Given the description of an element on the screen output the (x, y) to click on. 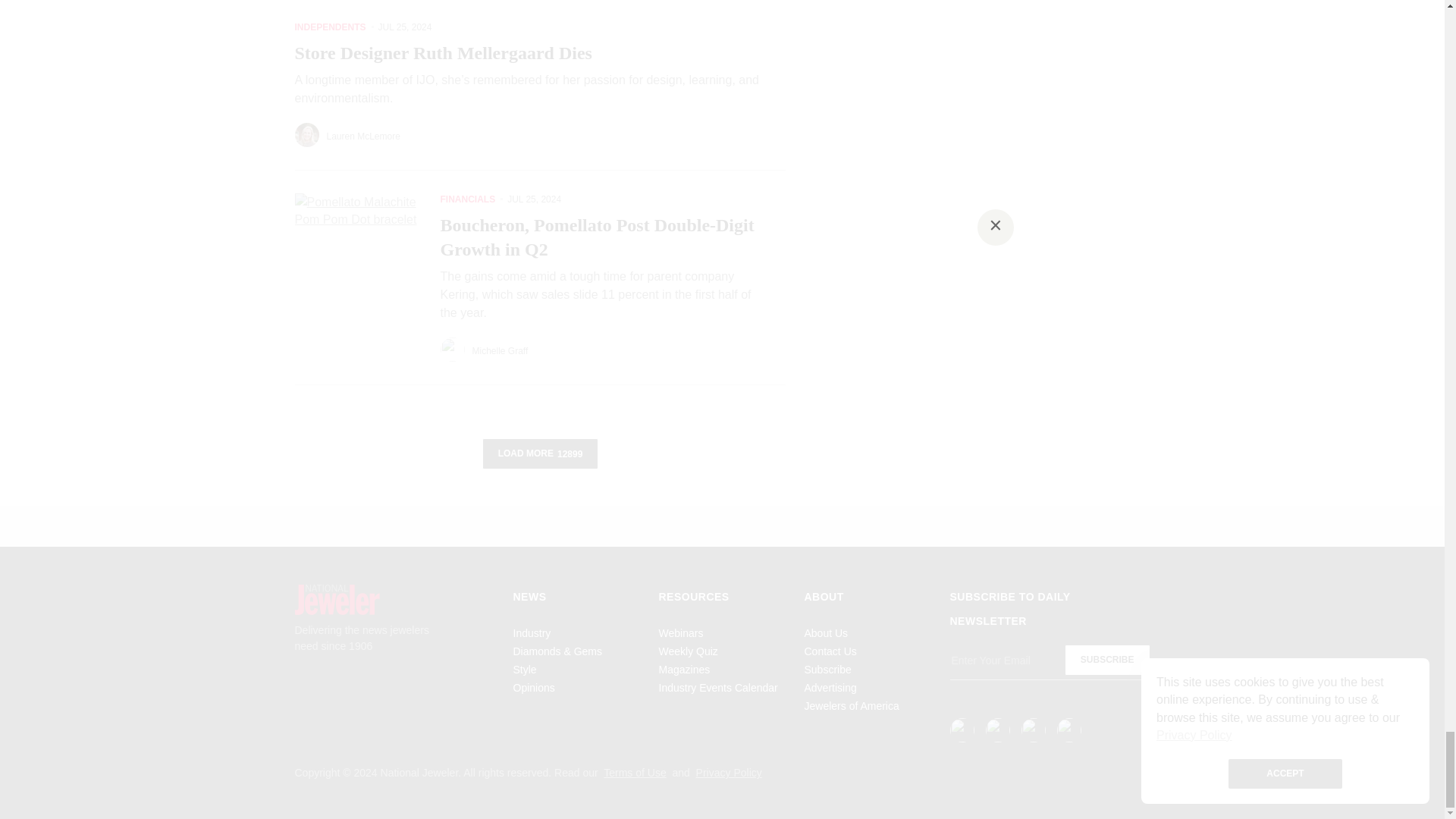
Subscribe (1107, 659)
